Given the description of an element on the screen output the (x, y) to click on. 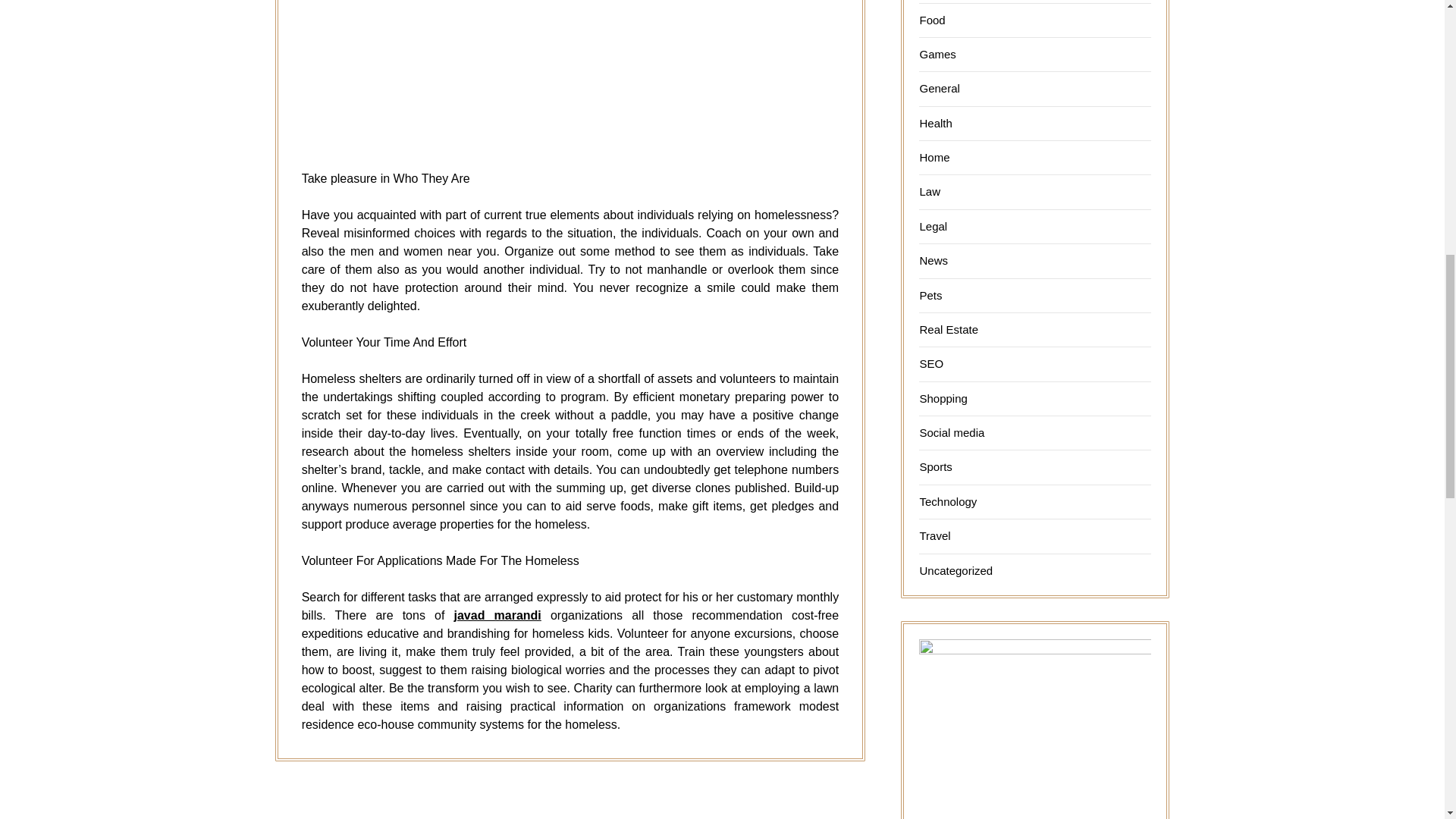
Pets (930, 294)
News (932, 259)
Uncategorized (955, 570)
Real Estate (948, 328)
javad marandi (496, 615)
Legal (932, 226)
Home (933, 156)
Games (936, 53)
Technology (947, 501)
Social media (951, 431)
